Given the description of an element on the screen output the (x, y) to click on. 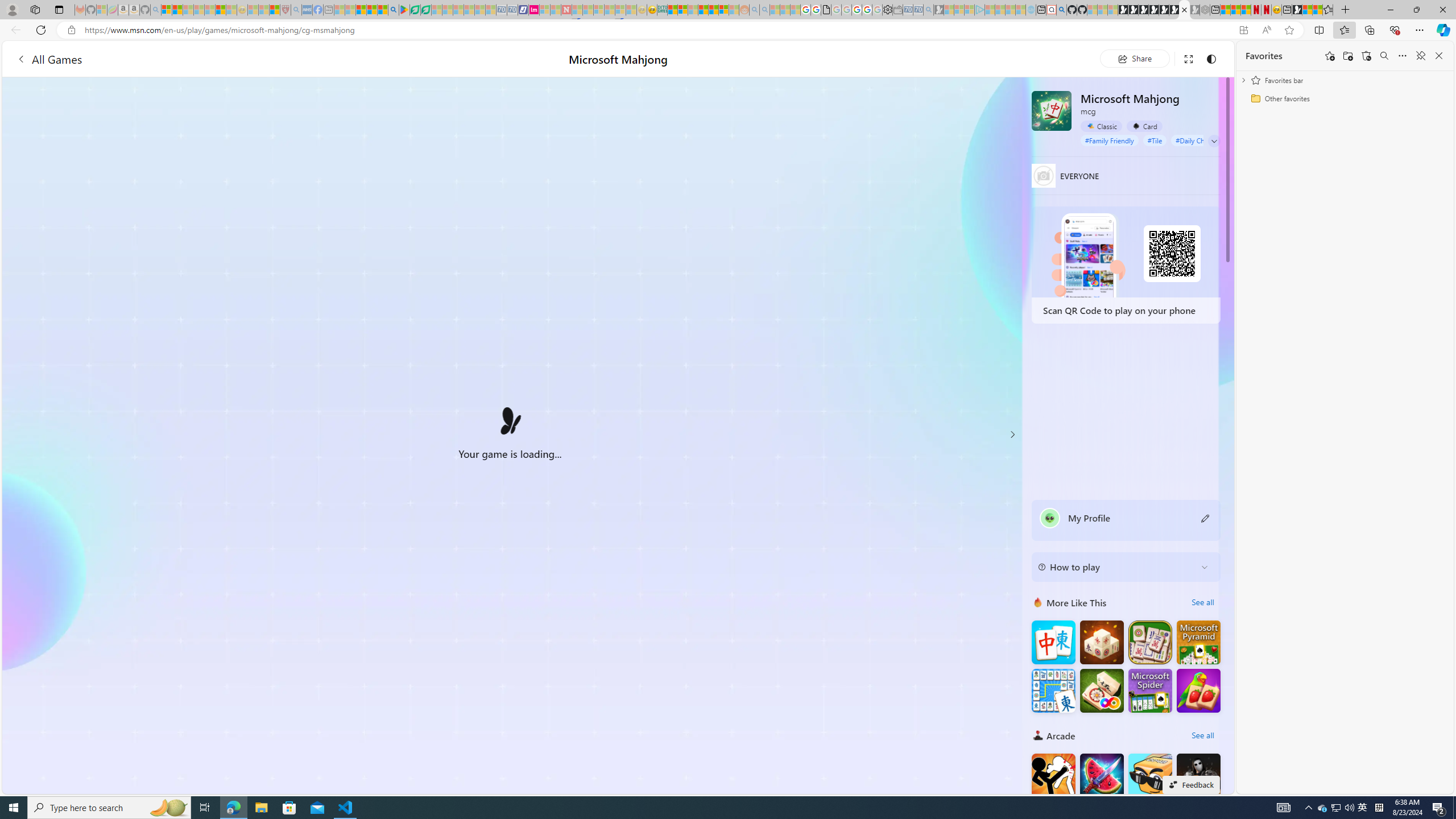
Stickman Fighter : Mega Brawl (1053, 775)
Unpin favorites (1420, 55)
Microsoft Spider Solitaire (1149, 690)
Class: expand-arrow neutral (1214, 141)
